Given the description of an element on the screen output the (x, y) to click on. 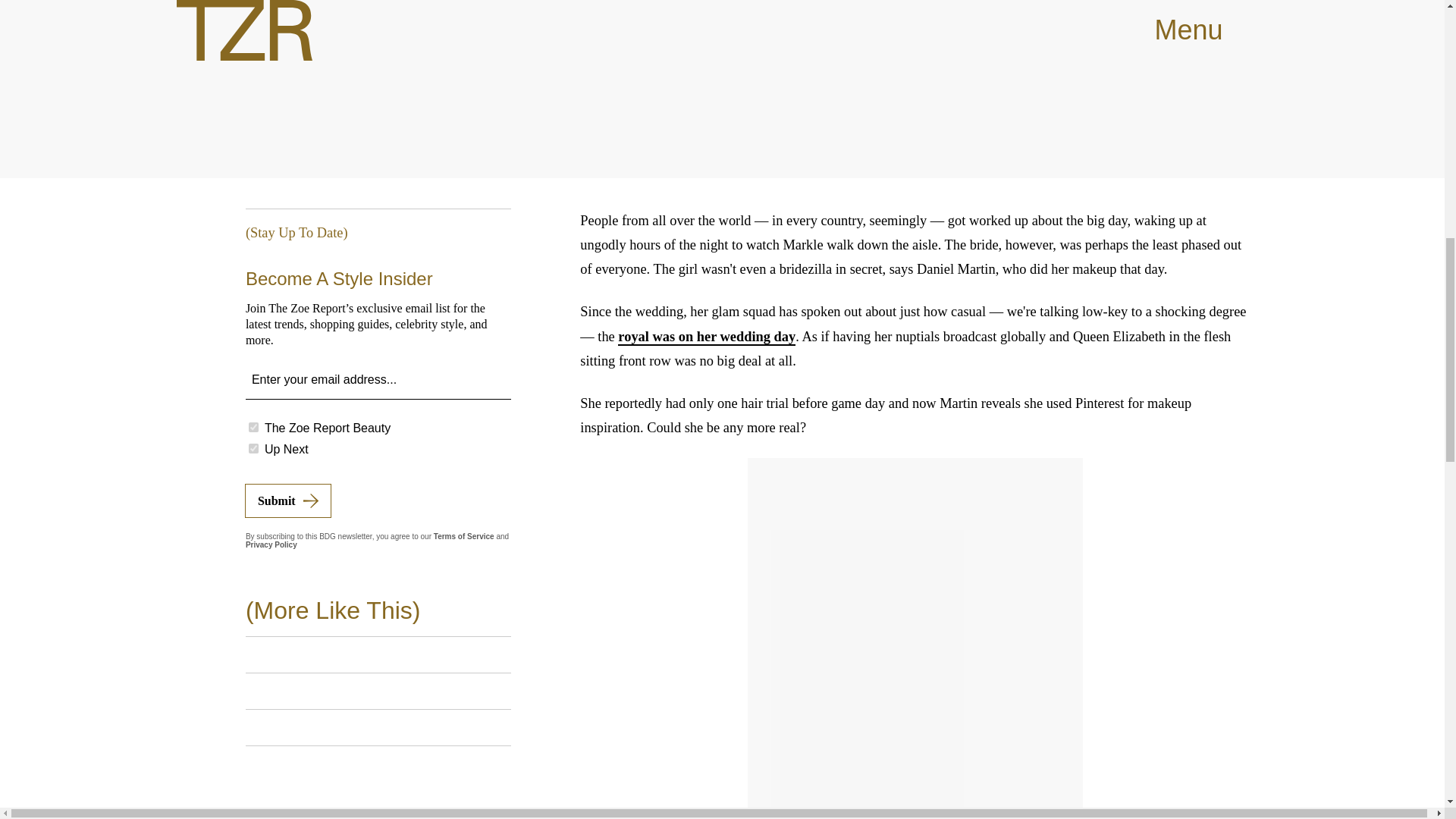
royal was on her wedding day (705, 337)
Terms of Service (464, 536)
Submit (288, 500)
Privacy Policy (271, 544)
